Given the description of an element on the screen output the (x, y) to click on. 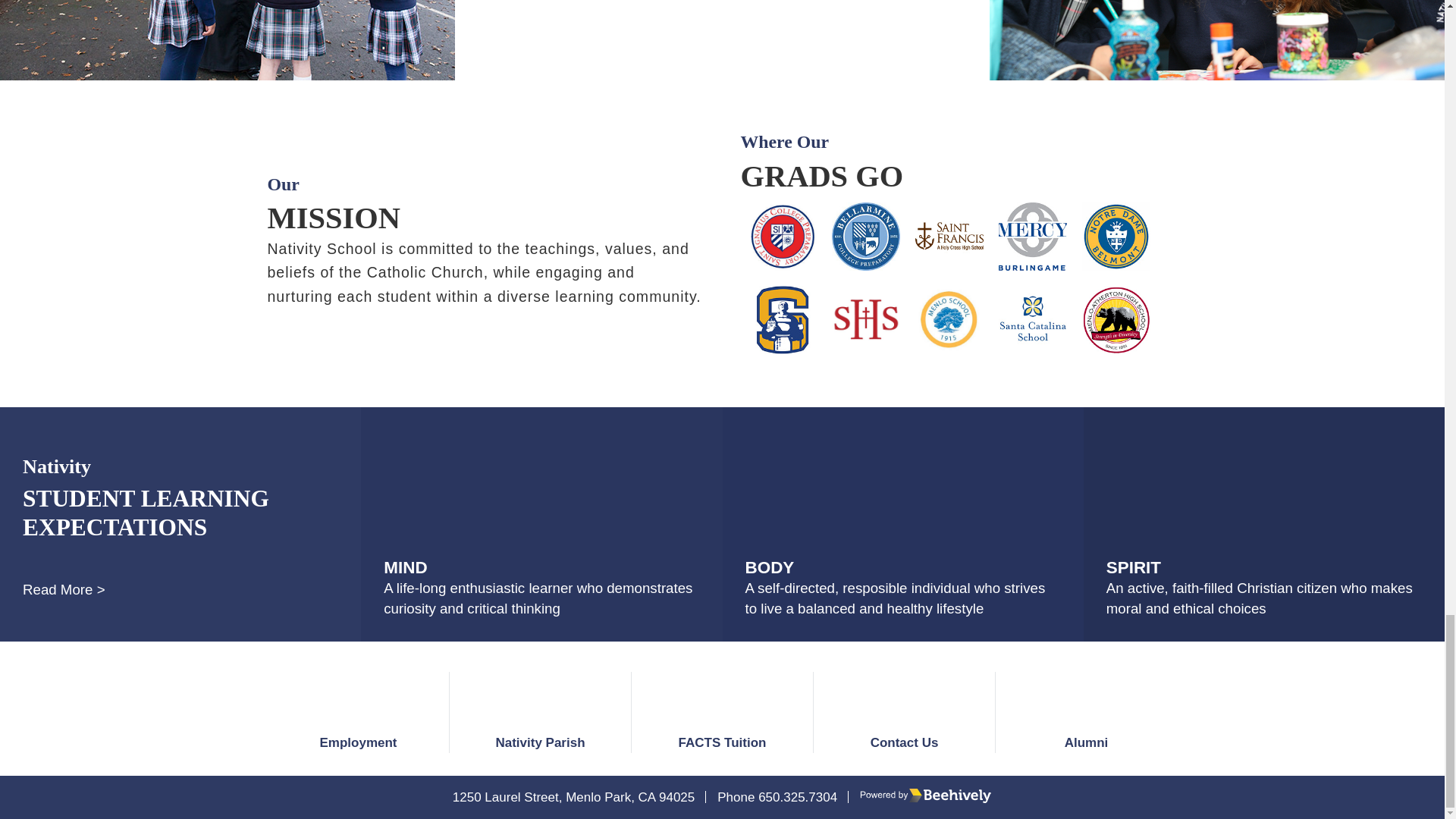
Alumni (1085, 711)
Contact Us (903, 711)
Powered by School management product Beehively (925, 797)
Employment (357, 711)
FACTS (721, 711)
Parish (539, 711)
